Given the description of an element on the screen output the (x, y) to click on. 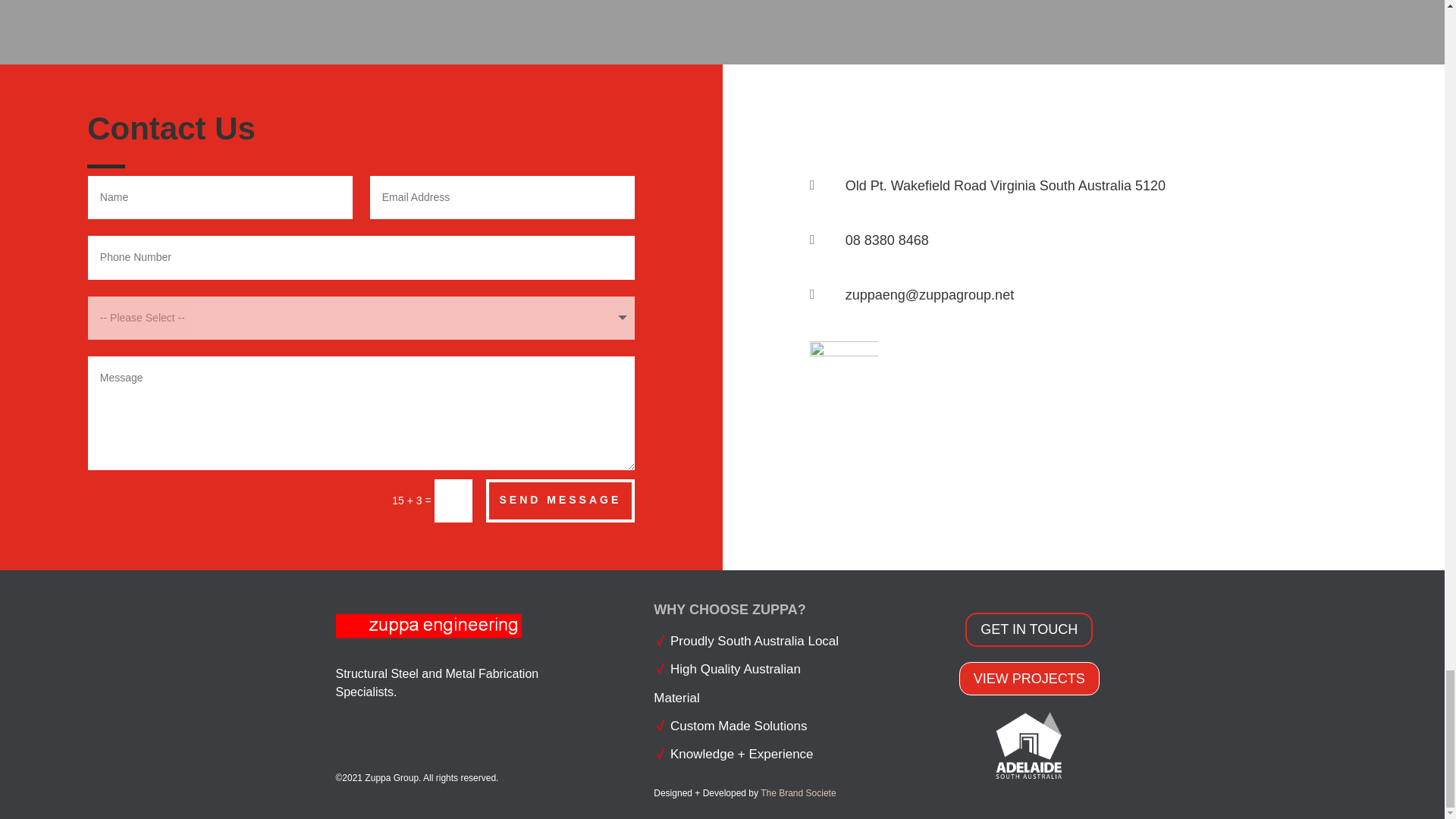
SEND MESSAGE (559, 499)
GET IN TOUCH (1029, 629)
VIEW PROJECTS (1029, 677)
The Brand Societe (797, 792)
08 8380 8468 (886, 240)
